Given the description of an element on the screen output the (x, y) to click on. 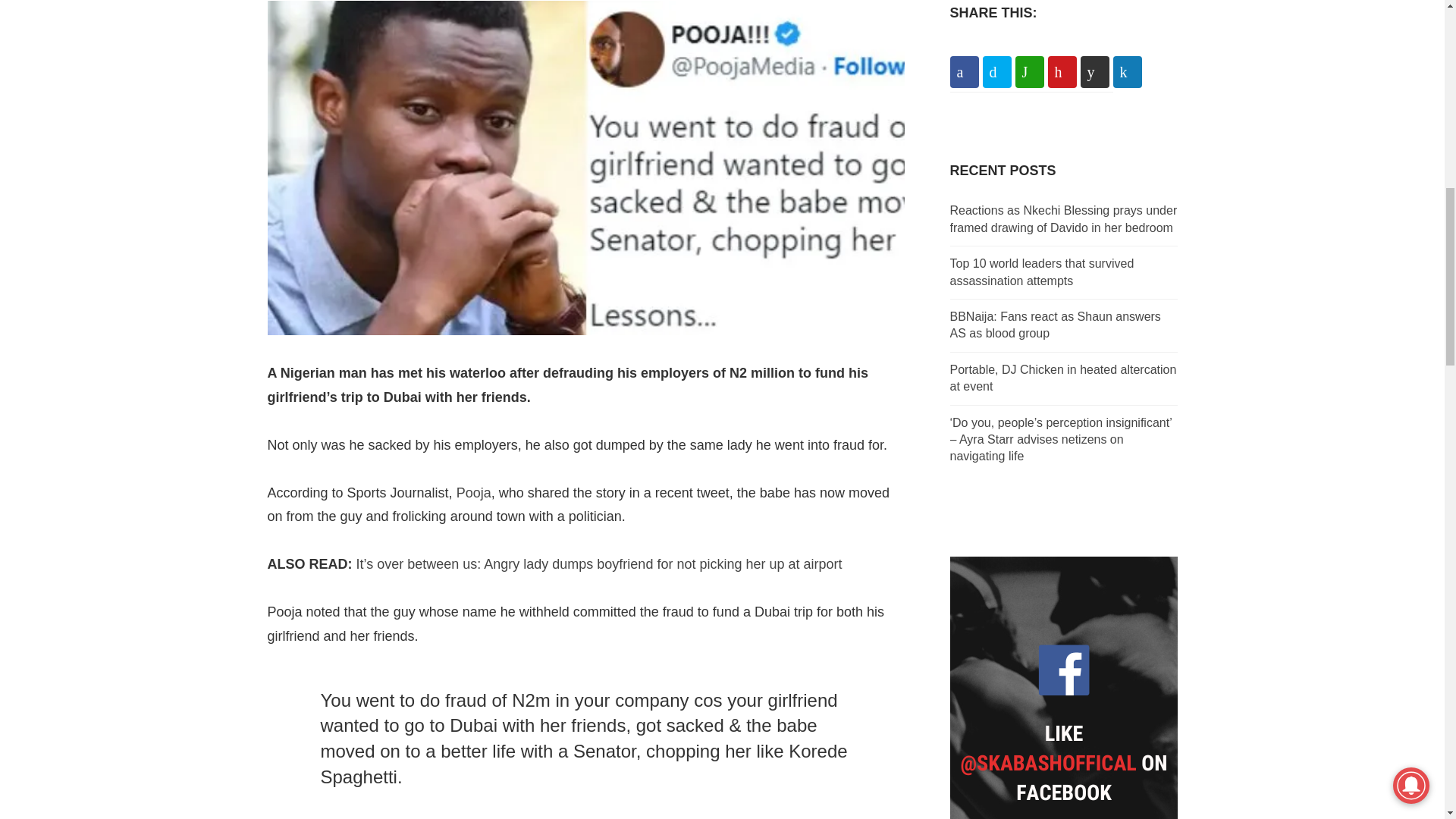
Share on Facebook (963, 71)
Share on Twitter (996, 71)
